Given the description of an element on the screen output the (x, y) to click on. 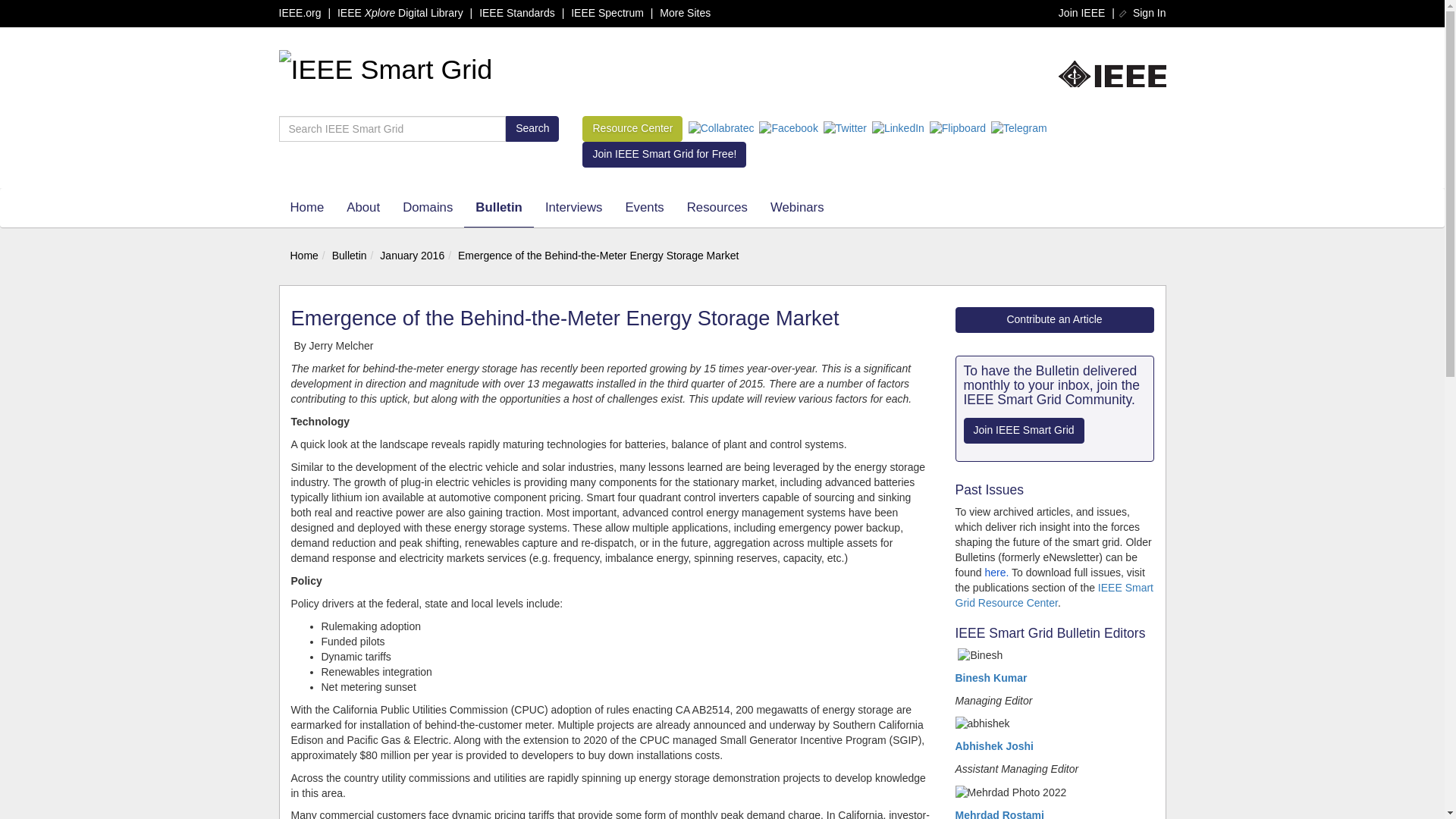
IEEE Standards (516, 12)
IEEE Smart Grid (386, 75)
More Sites (684, 12)
Domains (427, 207)
IEEE Spectrum (606, 12)
IEEE Xplore Digital Library (400, 12)
IEEE.org (1112, 75)
Twitter (845, 128)
LinkedIn (898, 128)
Resource Center (632, 128)
